Given the description of an element on the screen output the (x, y) to click on. 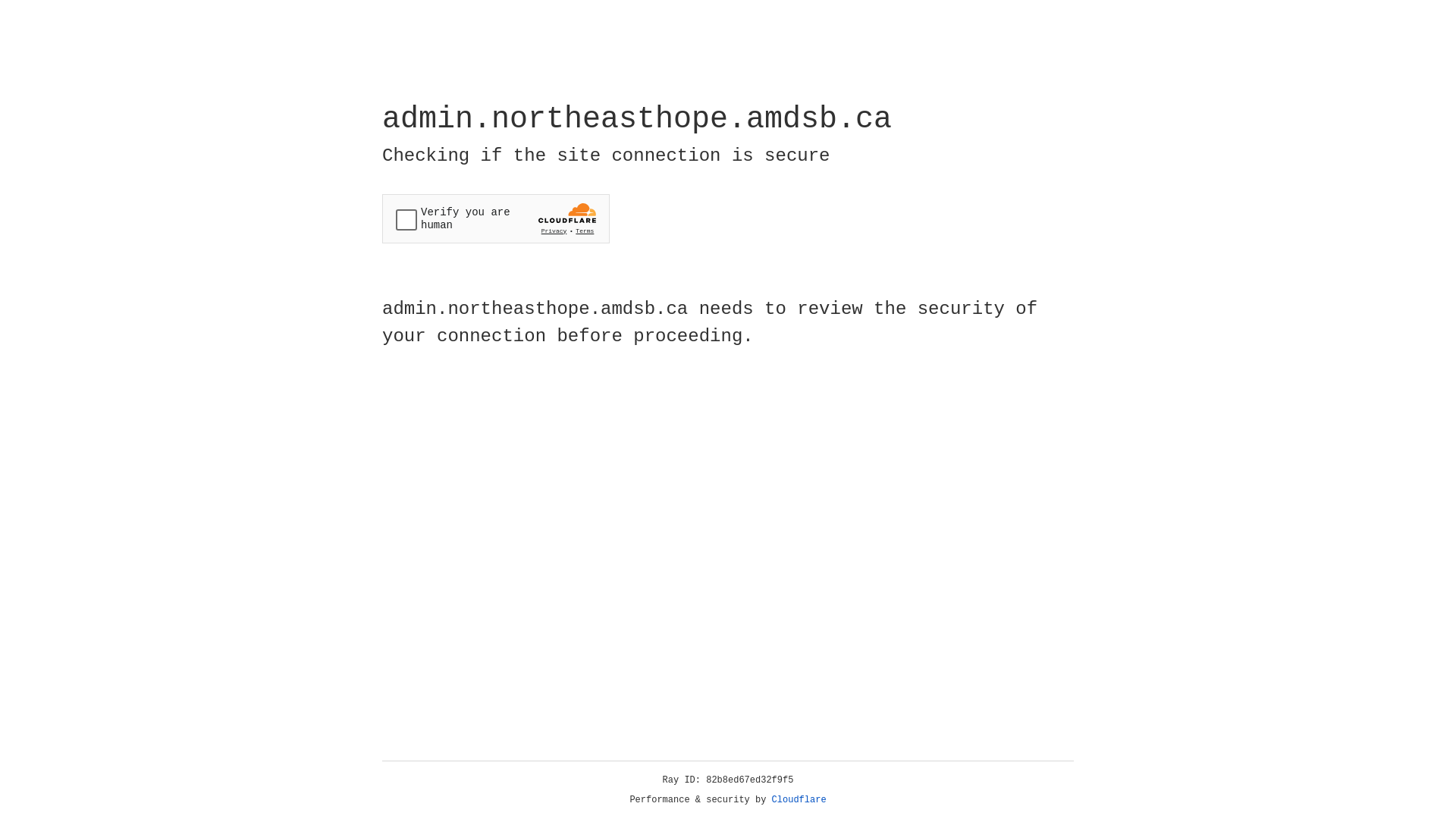
Cloudflare Element type: text (798, 799)
Widget containing a Cloudflare security challenge Element type: hover (495, 218)
